Given the description of an element on the screen output the (x, y) to click on. 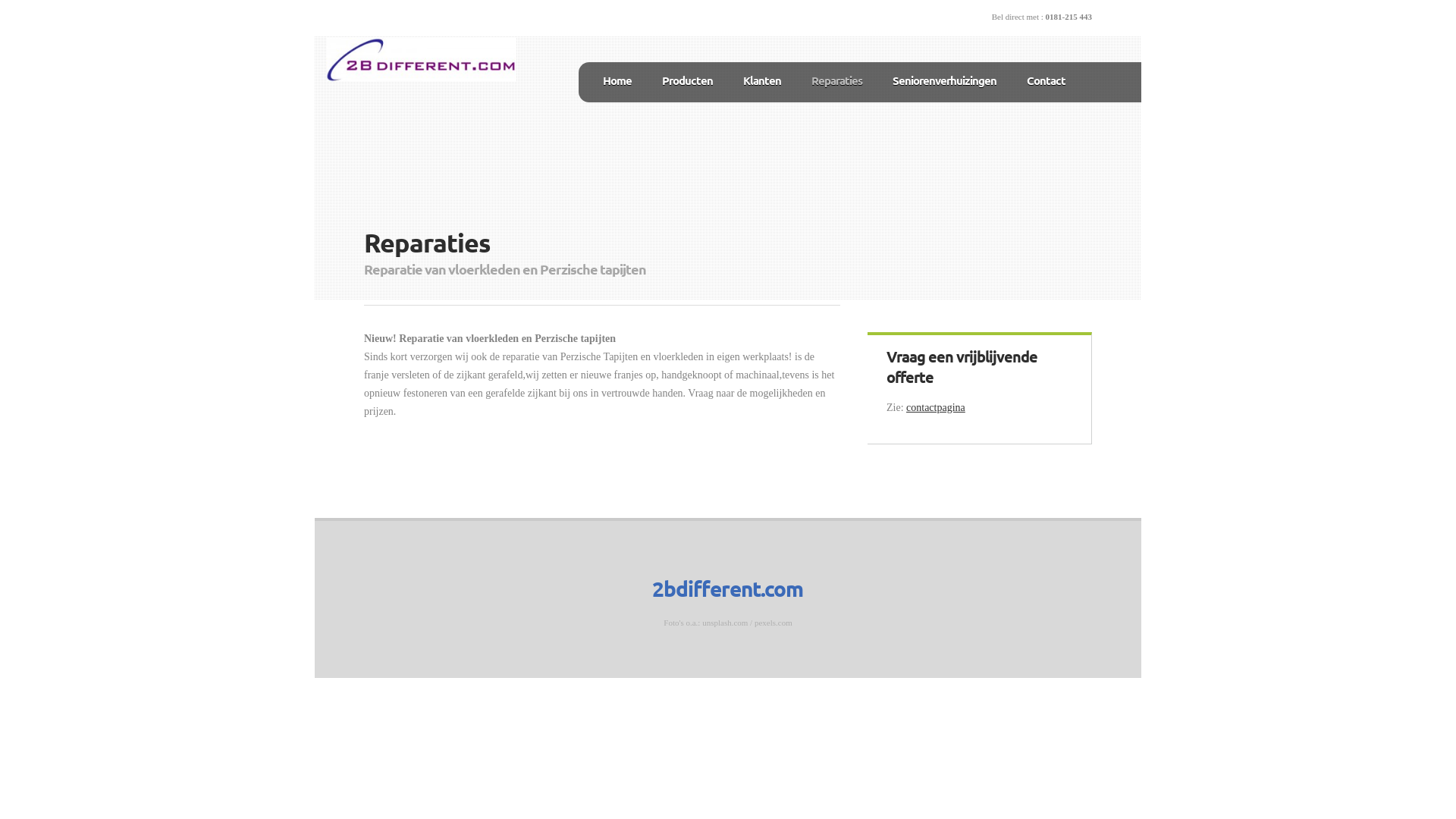
Contact Element type: text (1045, 79)
Klanten Element type: text (762, 79)
Home Element type: text (616, 79)
Reparaties Element type: text (836, 79)
Producten Element type: text (687, 79)
contactpagina Element type: text (935, 407)
Seniorenverhuizingen Element type: text (944, 79)
